Given the description of an element on the screen output the (x, y) to click on. 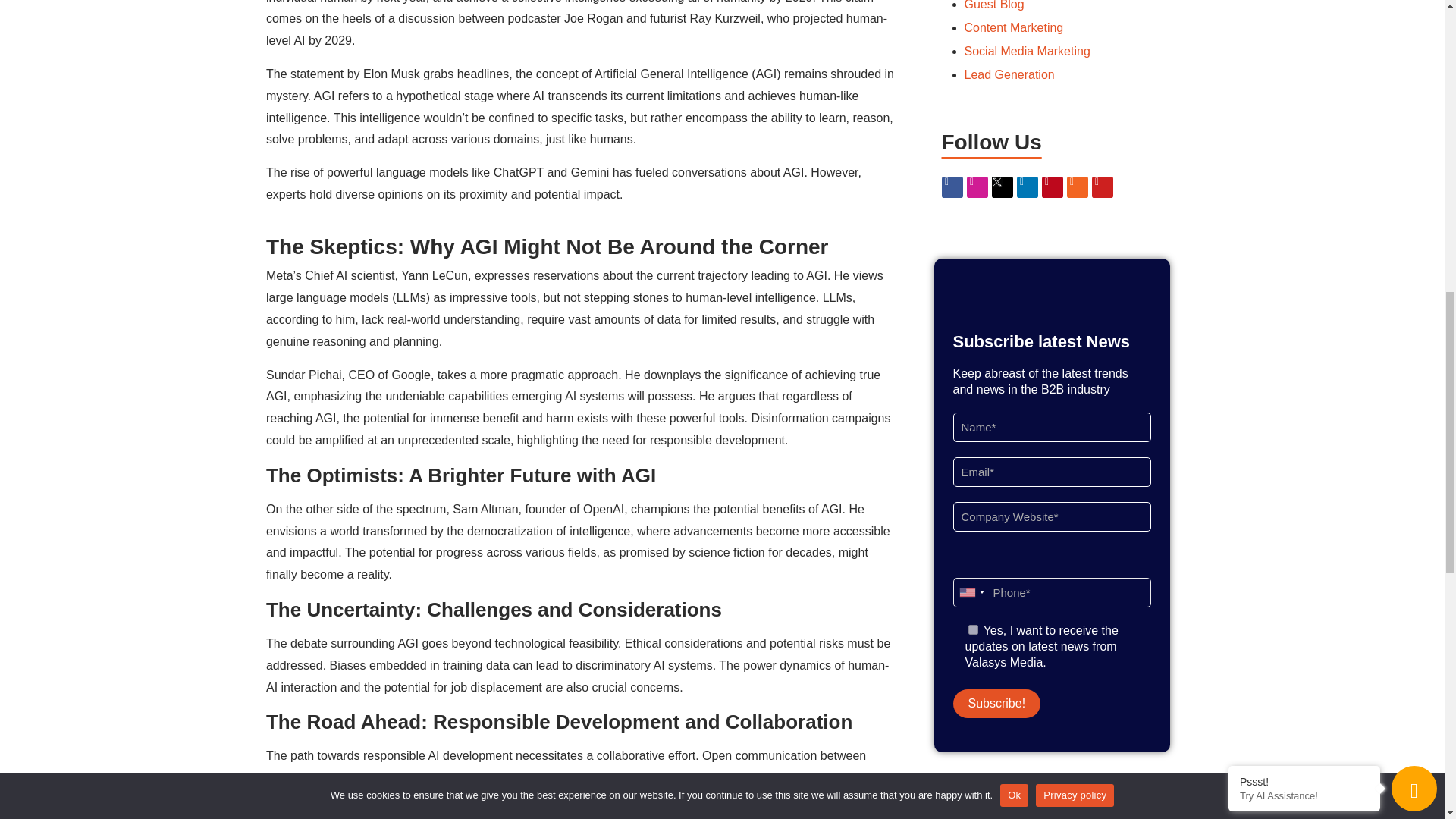
1 (972, 629)
Subscribe! (996, 703)
